Given the description of an element on the screen output the (x, y) to click on. 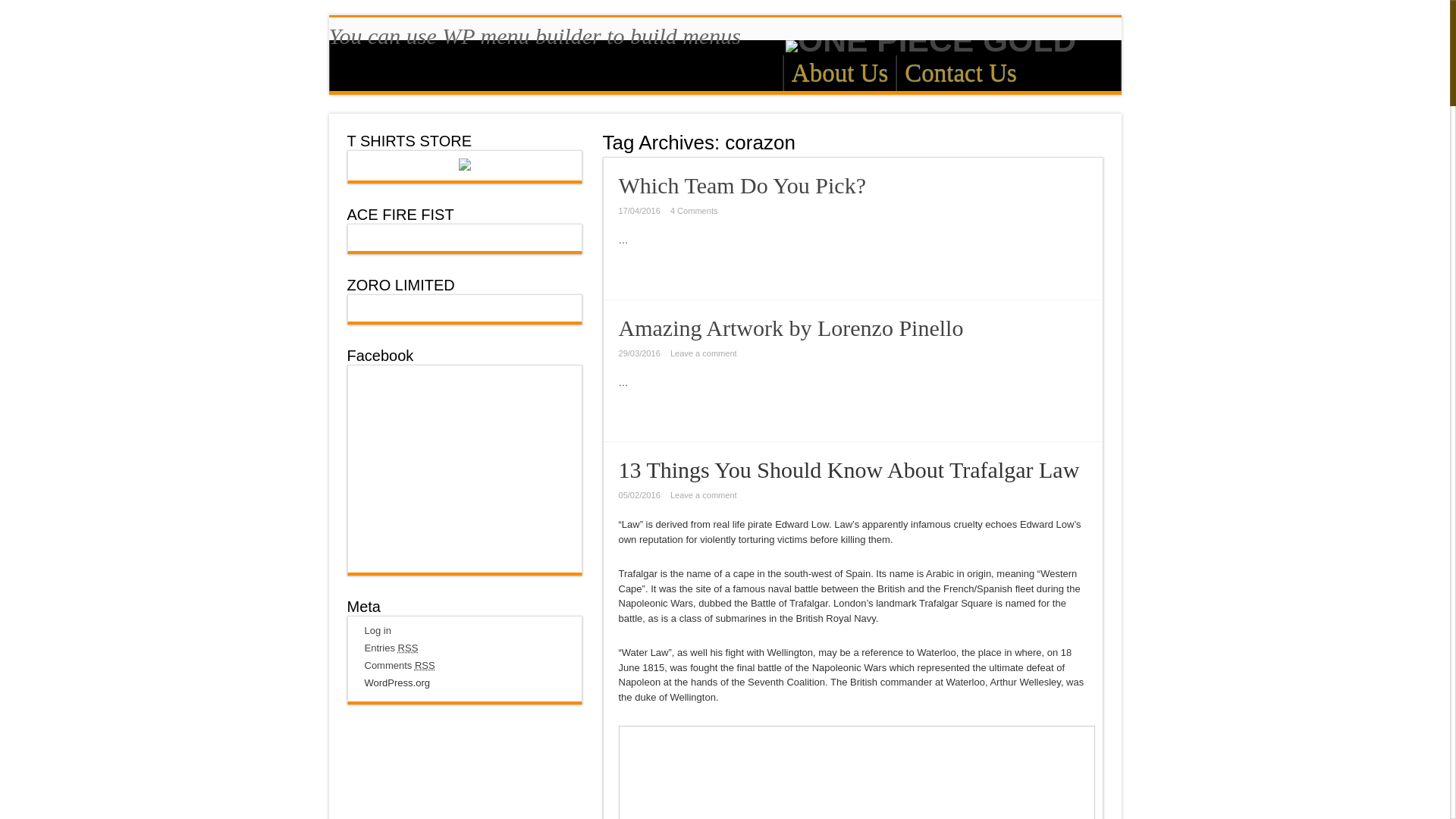
Amazing Artwork by Lorenzo Pinello (790, 327)
Really Simple Syndication (408, 647)
Which Team Do You Pick? (742, 185)
Contact Us (960, 72)
4 Comments (693, 210)
Comments RSS (398, 665)
ONE PIECE GOLD (725, 46)
Permalink to Amazing Artwork by Lorenzo Pinello (790, 327)
Permalink to Which Team Do You Pick? (742, 185)
Home (762, 75)
Log in (377, 630)
Leave a comment (702, 352)
Really Simple Syndication (424, 665)
About Us (839, 72)
Entries RSS (390, 647)
